Given the description of an element on the screen output the (x, y) to click on. 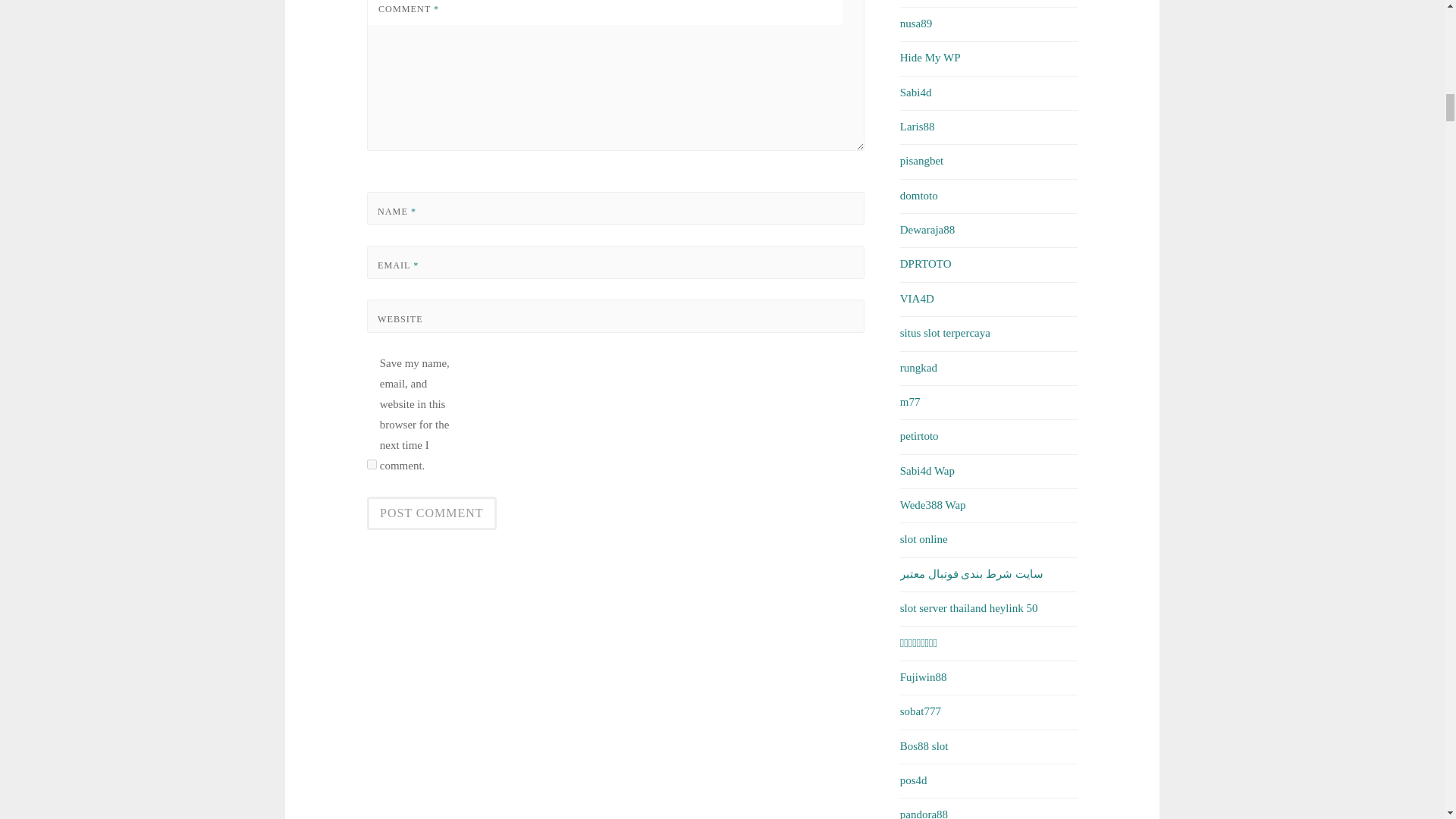
Post Comment (431, 512)
yes (371, 464)
Post Comment (431, 512)
